Given the description of an element on the screen output the (x, y) to click on. 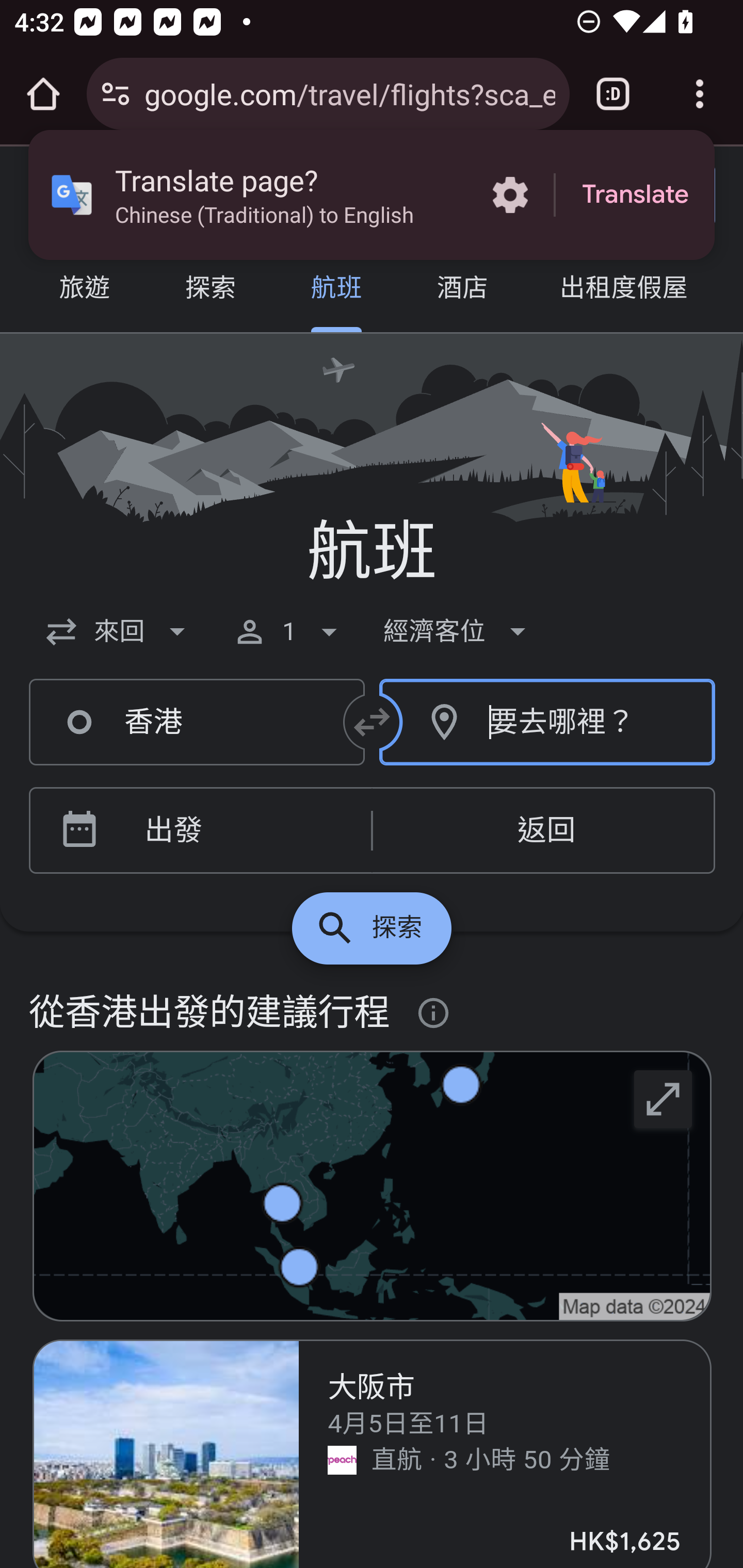
Open the home page (43, 93)
Connection is secure (115, 93)
Switch or close tabs (612, 93)
Customize and control Google Chrome (699, 93)
主選單 (58, 195)
Google Apps (513, 195)
登入 (643, 195)
旅遊  (84, 289)
探索  (209, 289)
航班  (336, 289)
酒店  (462, 289)
出租度假屋  (623, 289)
1 位乘客，變更乘客人數。 (289, 631)
香港 (197, 722)
將出發地同埋目的地對調 (372, 722)
出發 (229, 830)
返回 (543, 830)
探索更多目的地 (371, 928)
有關由香港出發嘅建議行程。 (434, 1013)
探索更多目的地 (663, 1098)
大阪市 4月5日至11日 樂桃航空 直航 3 小時 50 分鐘 1625 港元 (372, 1453)
